Given the description of an element on the screen output the (x, y) to click on. 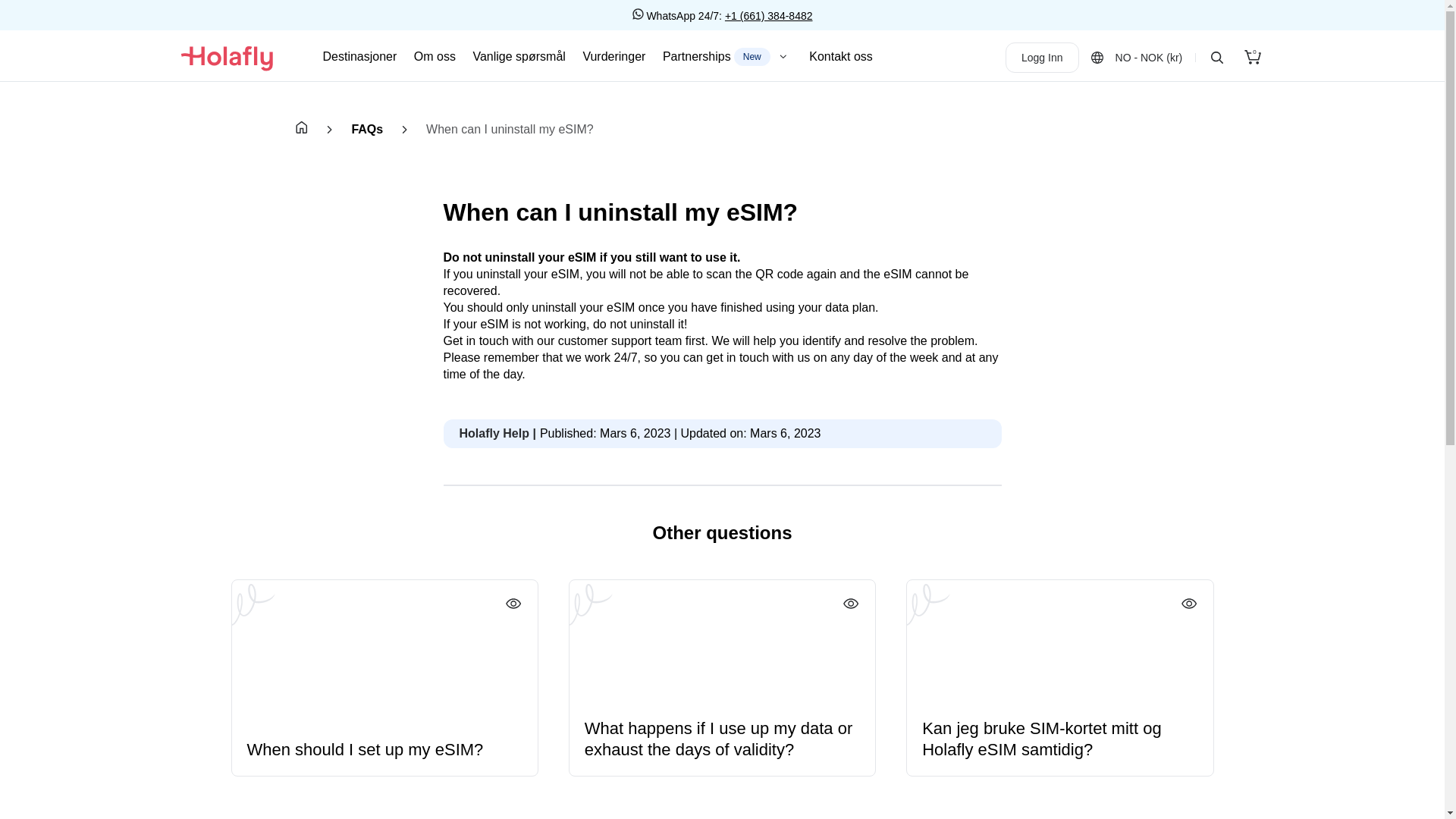
Om oss (727, 56)
Kontakt oss (434, 56)
0 (840, 56)
Vurderinger (1252, 57)
Logg Inn (613, 56)
Destinasjoner (1042, 57)
